Given the description of an element on the screen output the (x, y) to click on. 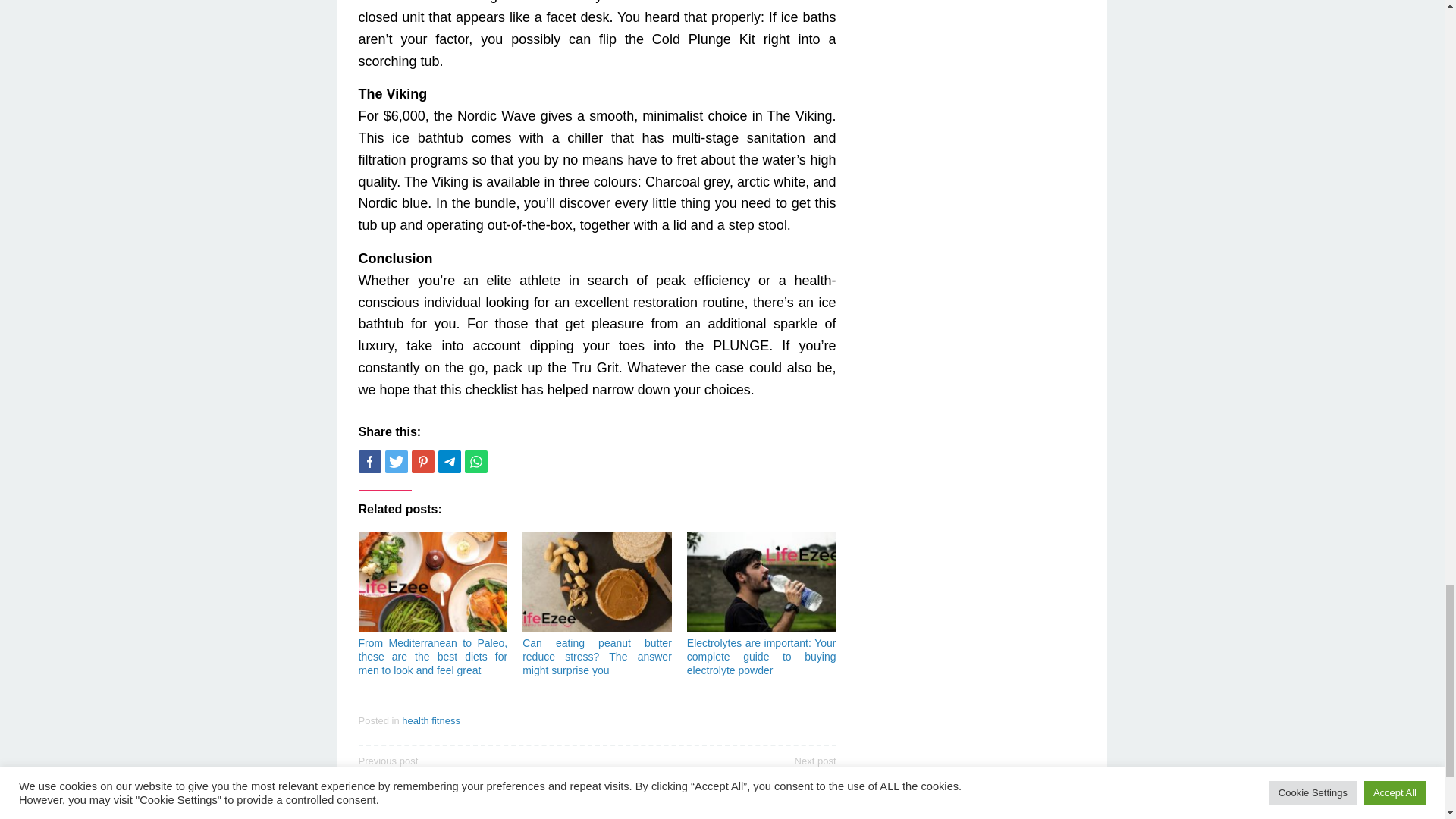
Share this (369, 461)
Whatsapp (475, 461)
Tweet this (396, 461)
Telegram Share (449, 461)
Pin this (421, 461)
